Given the description of an element on the screen output the (x, y) to click on. 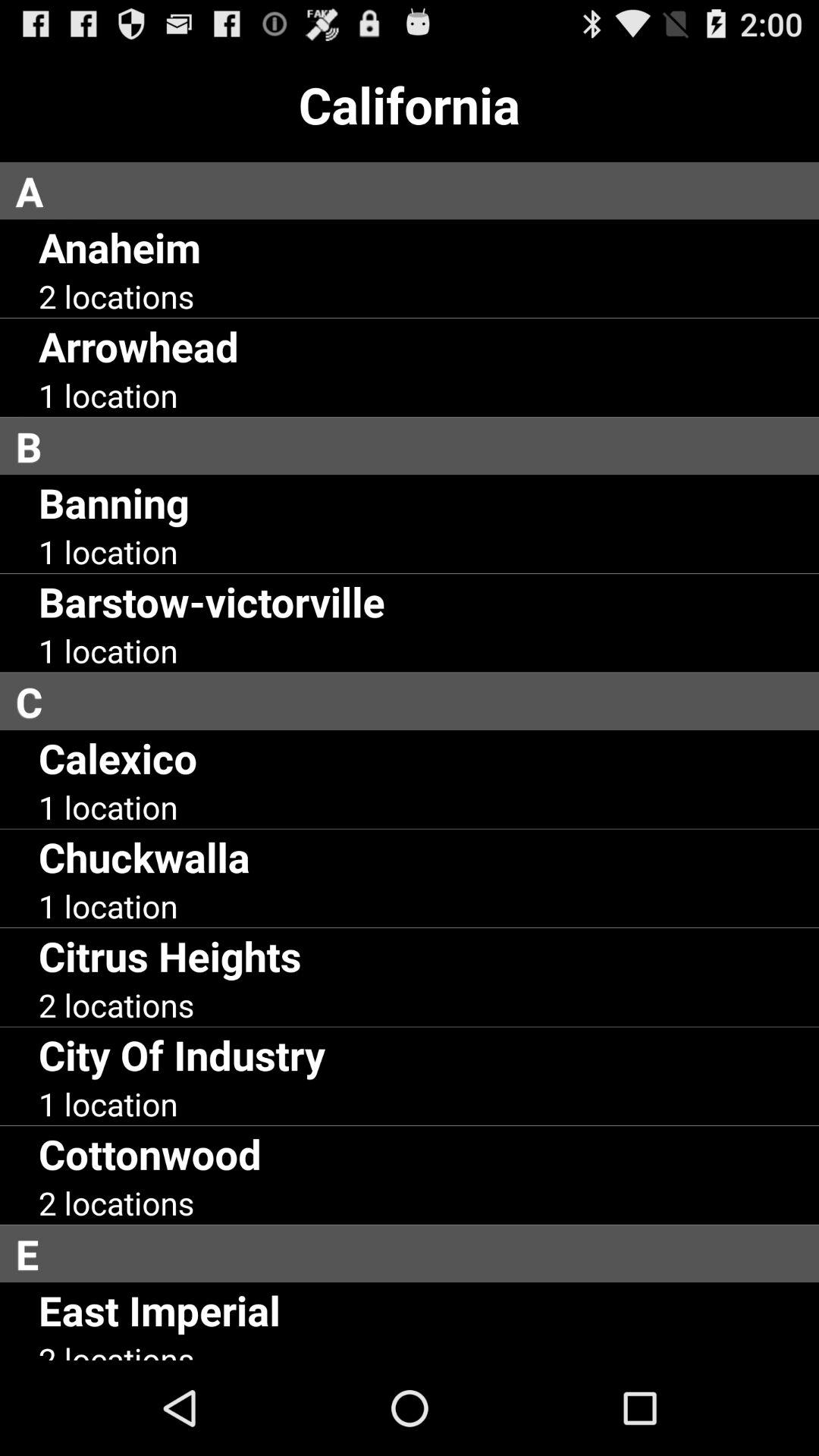
jump until banning item (113, 502)
